Given the description of an element on the screen output the (x, y) to click on. 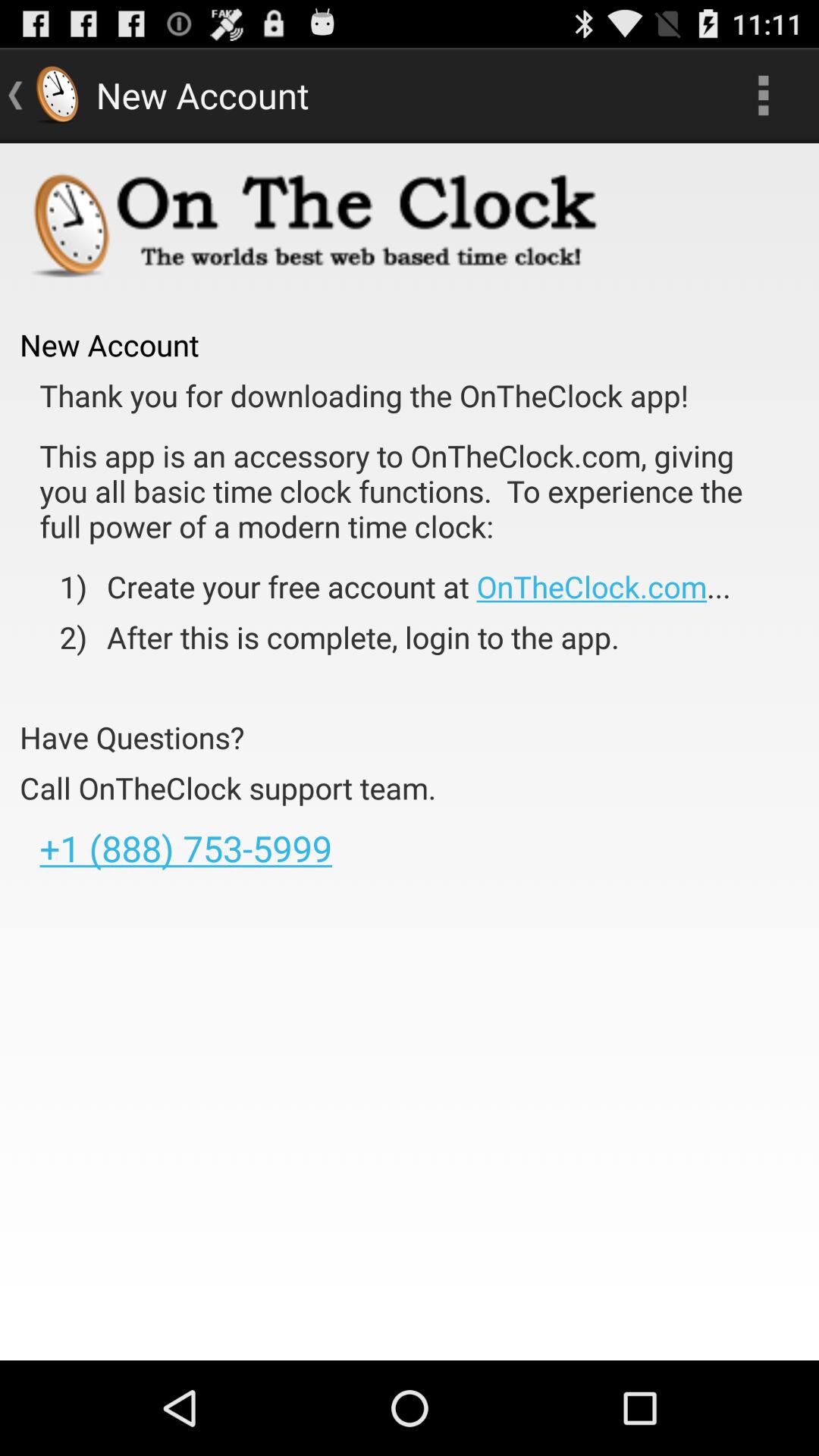
select the item above call ontheclock support item (131, 737)
